Given the description of an element on the screen output the (x, y) to click on. 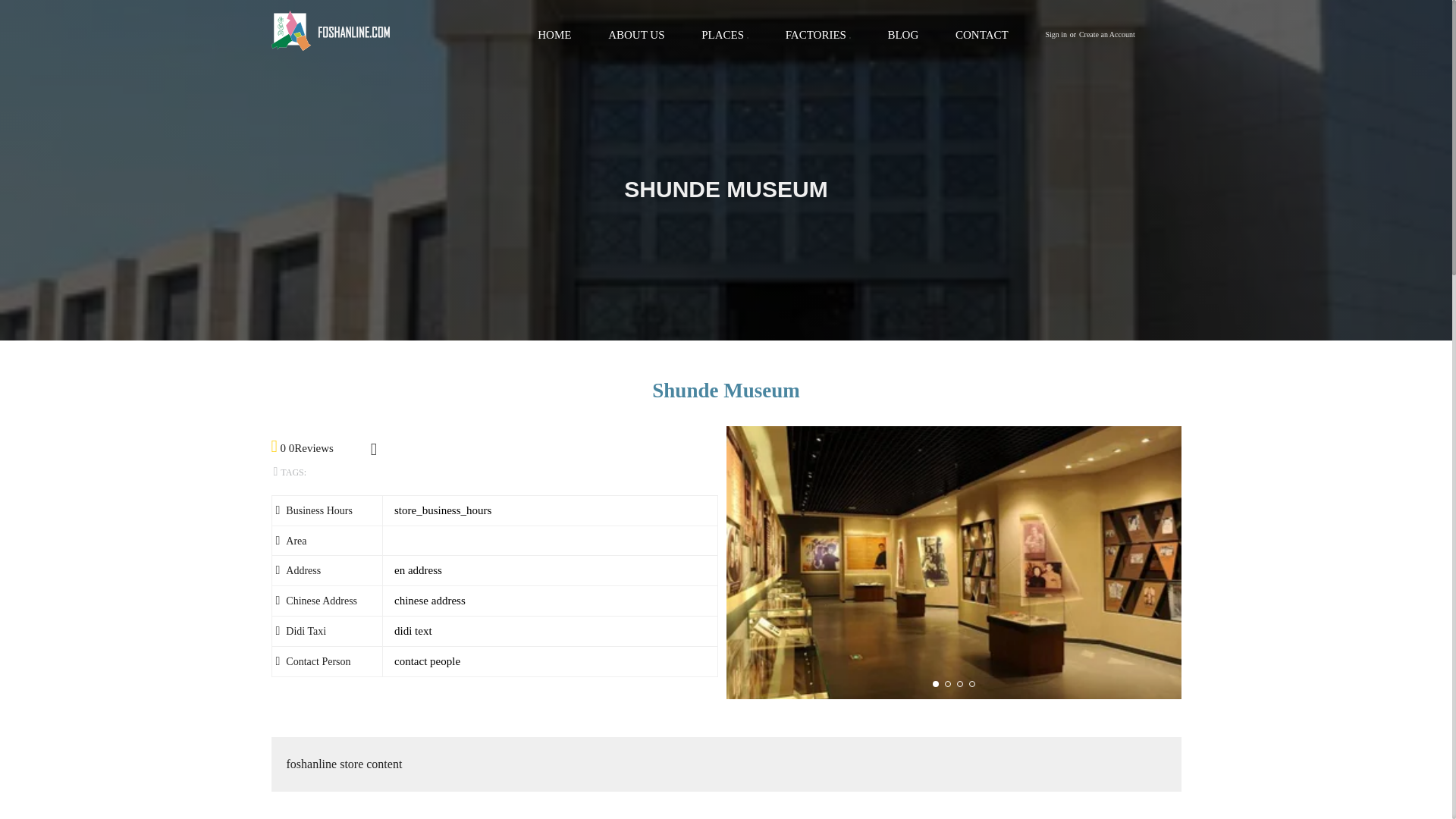
Create an Account (1106, 34)
ABOUT US (635, 34)
BLOG (902, 34)
CONTACT (982, 34)
PLACES (722, 34)
HOME (553, 34)
FACTORIES (815, 34)
Sign in (1056, 34)
